Given the description of an element on the screen output the (x, y) to click on. 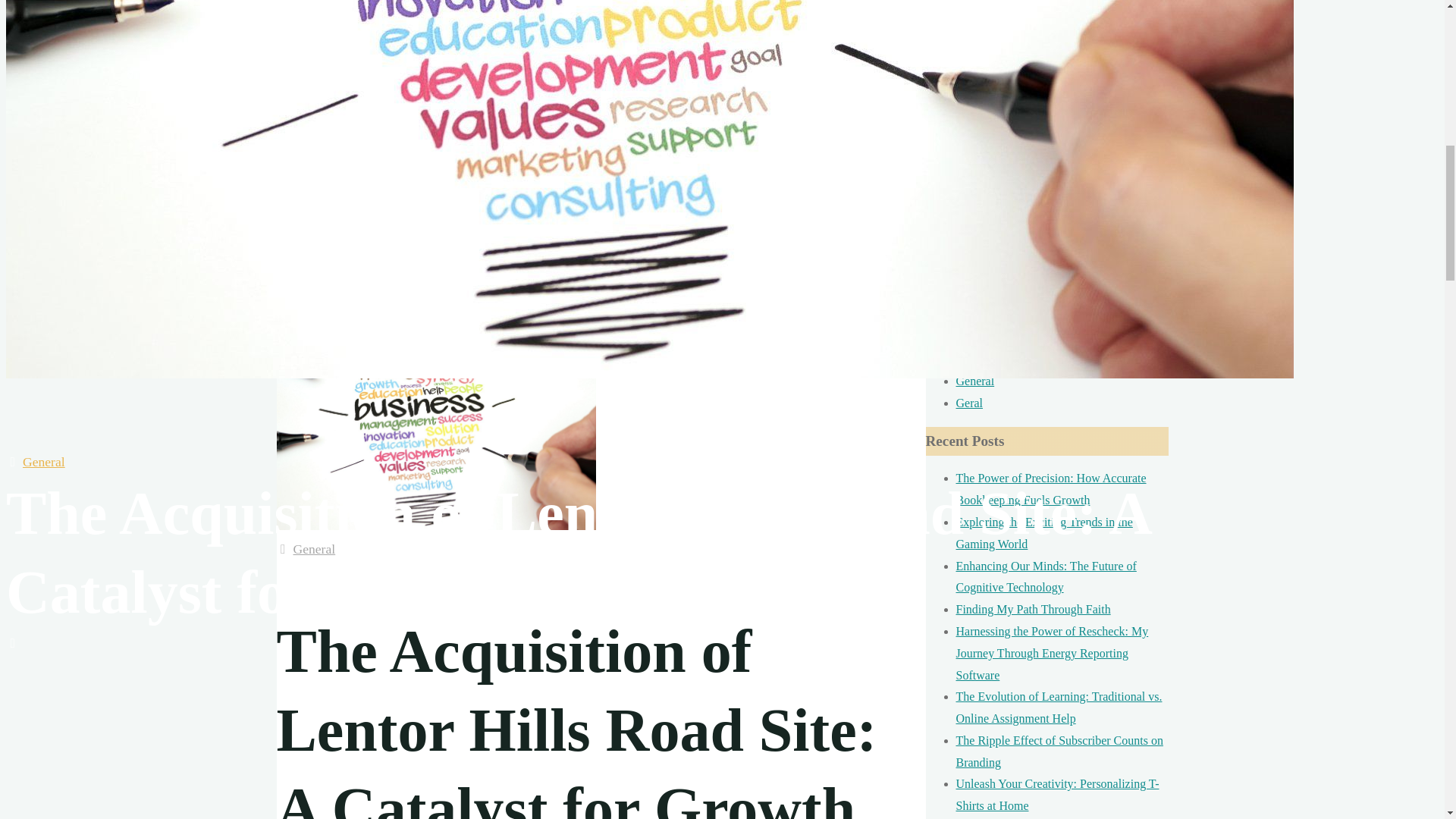
Enhancing Our Minds: The Future of Cognitive Technology (1045, 576)
General (974, 380)
Categories (12, 461)
General (313, 548)
General (44, 461)
Categories (282, 548)
Geral (968, 402)
Date (12, 642)
